Given the description of an element on the screen output the (x, y) to click on. 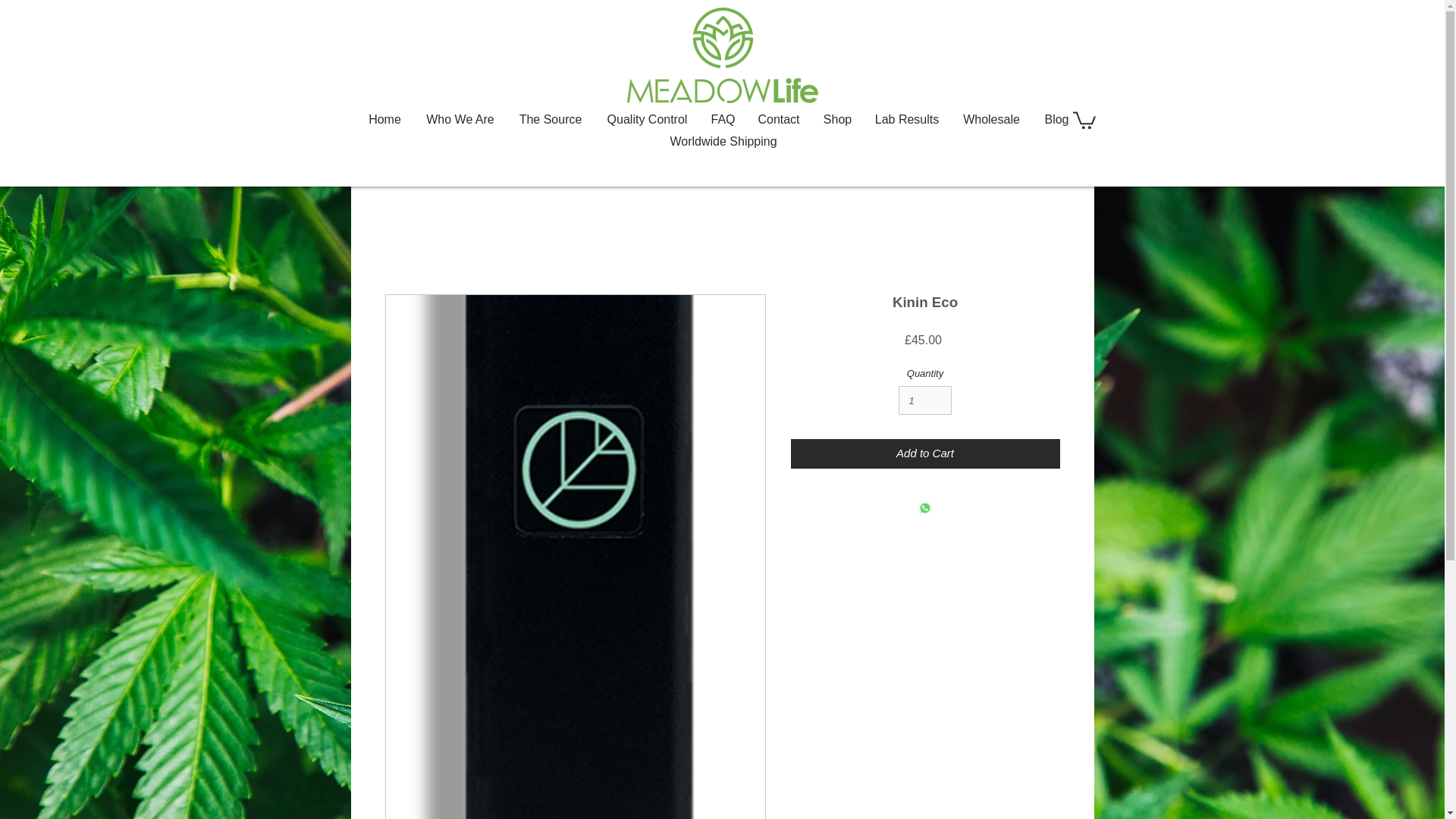
FAQ (722, 118)
Who We Are (459, 118)
Add to Cart (924, 453)
Lab Results (906, 118)
Shop (836, 118)
Home (384, 118)
Quality Control (647, 118)
Contact (778, 118)
Wholesale (991, 118)
1 (925, 399)
